Given the description of an element on the screen output the (x, y) to click on. 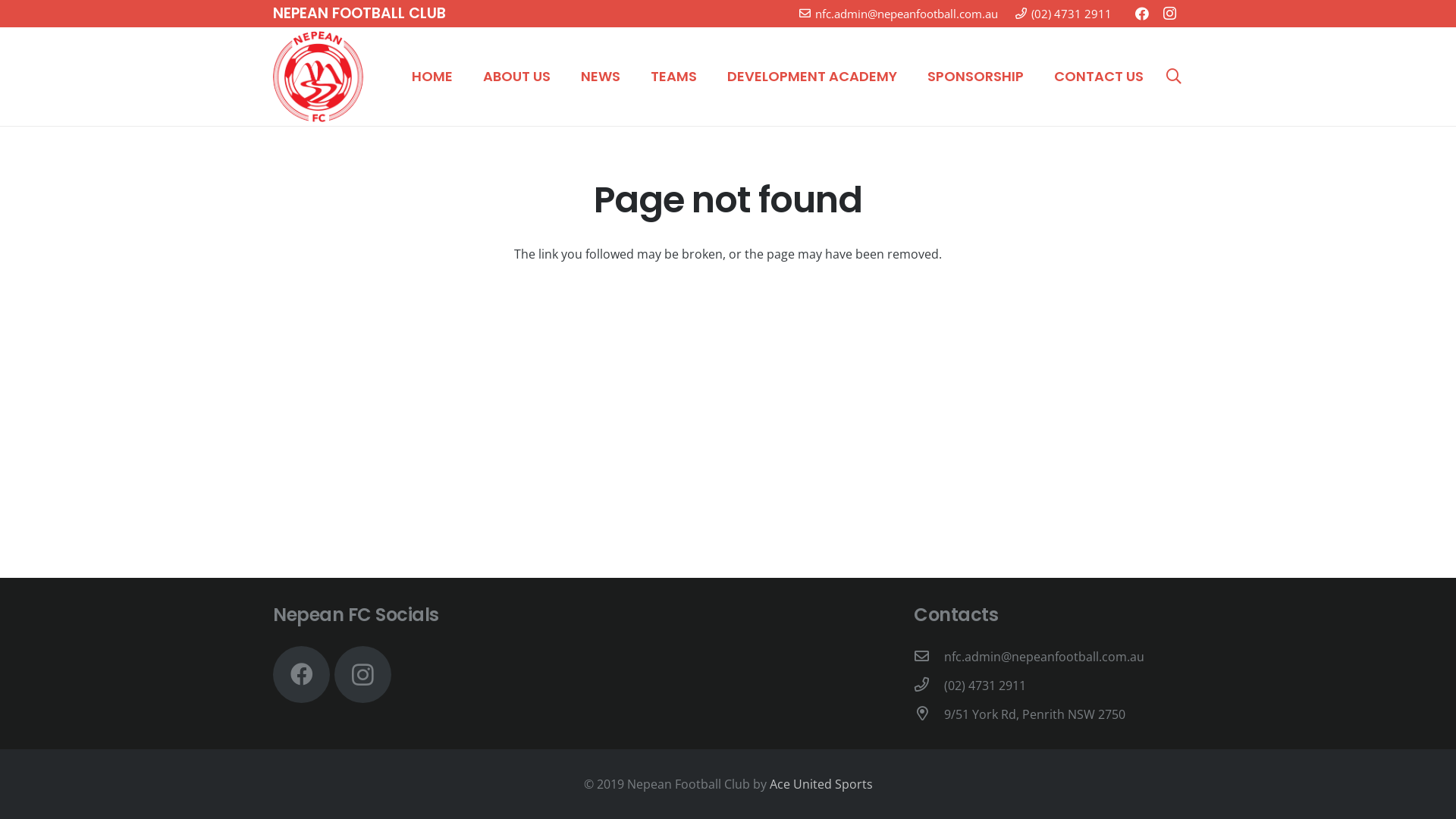
Facebook Element type: hover (1141, 13)
Facebook Element type: hover (301, 674)
DEVELOPMENT ACADEMY Element type: text (812, 76)
(02) 4731 2911 Element type: text (985, 685)
Instagram Element type: hover (1169, 13)
Instagram Element type: hover (362, 674)
nfc.admin@nepeanfootball.com.au Element type: text (1044, 656)
Ace United Sports Element type: text (820, 783)
CONTACT US Element type: text (1098, 76)
NEPEAN FOOTBALL CLUB Element type: text (359, 13)
nfc.admin@nepeanfootball.com.au Element type: text (898, 13)
NEWS Element type: text (600, 76)
TEAMS Element type: text (673, 76)
9/51 York Rd, Penrith NSW 2750 Element type: text (1034, 713)
ABOUT US Element type: text (516, 76)
HOME Element type: text (431, 76)
SPONSORSHIP Element type: text (975, 76)
